Given the description of an element on the screen output the (x, y) to click on. 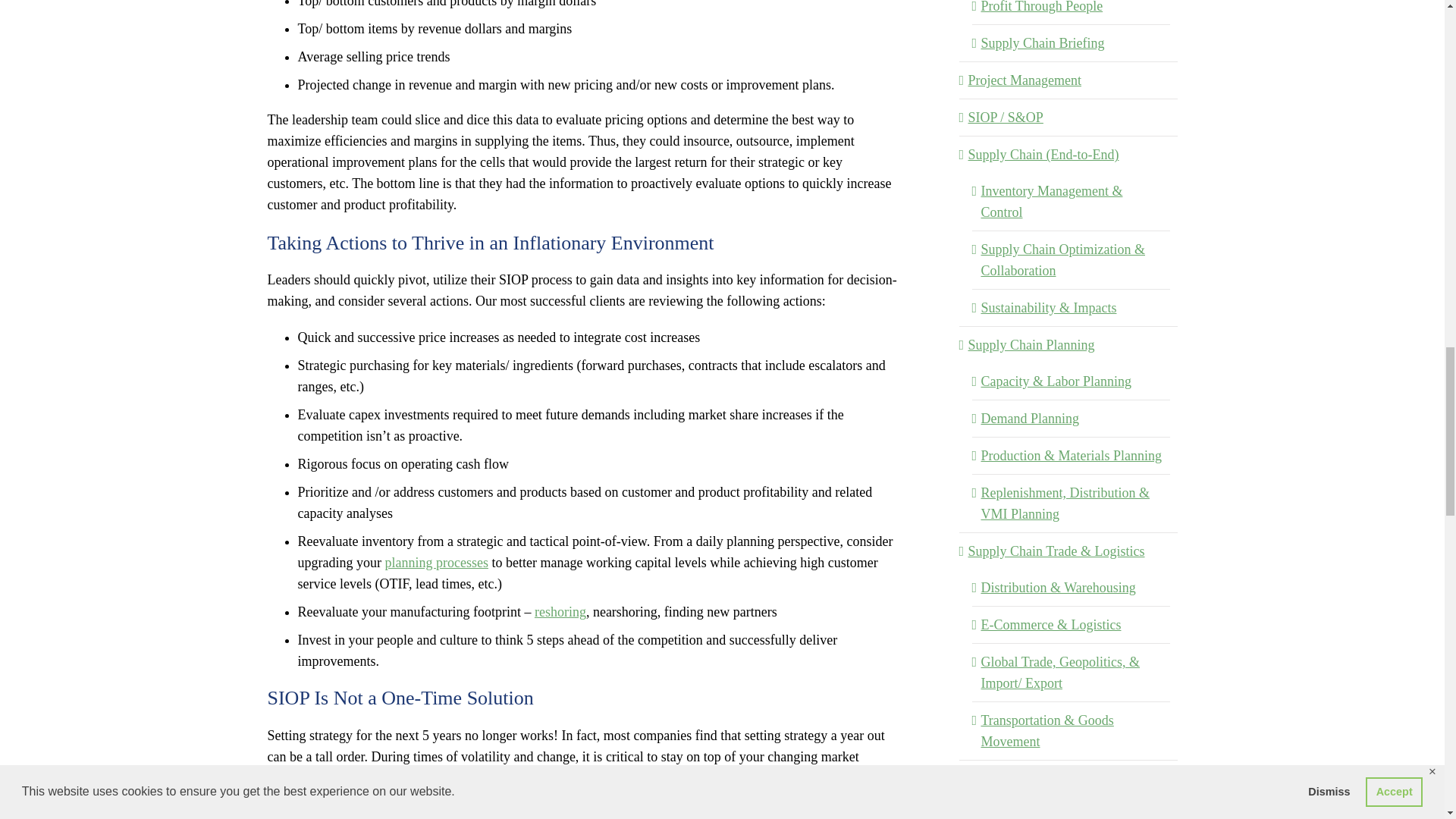
planning processes (435, 562)
reshoring (560, 611)
